Given the description of an element on the screen output the (x, y) to click on. 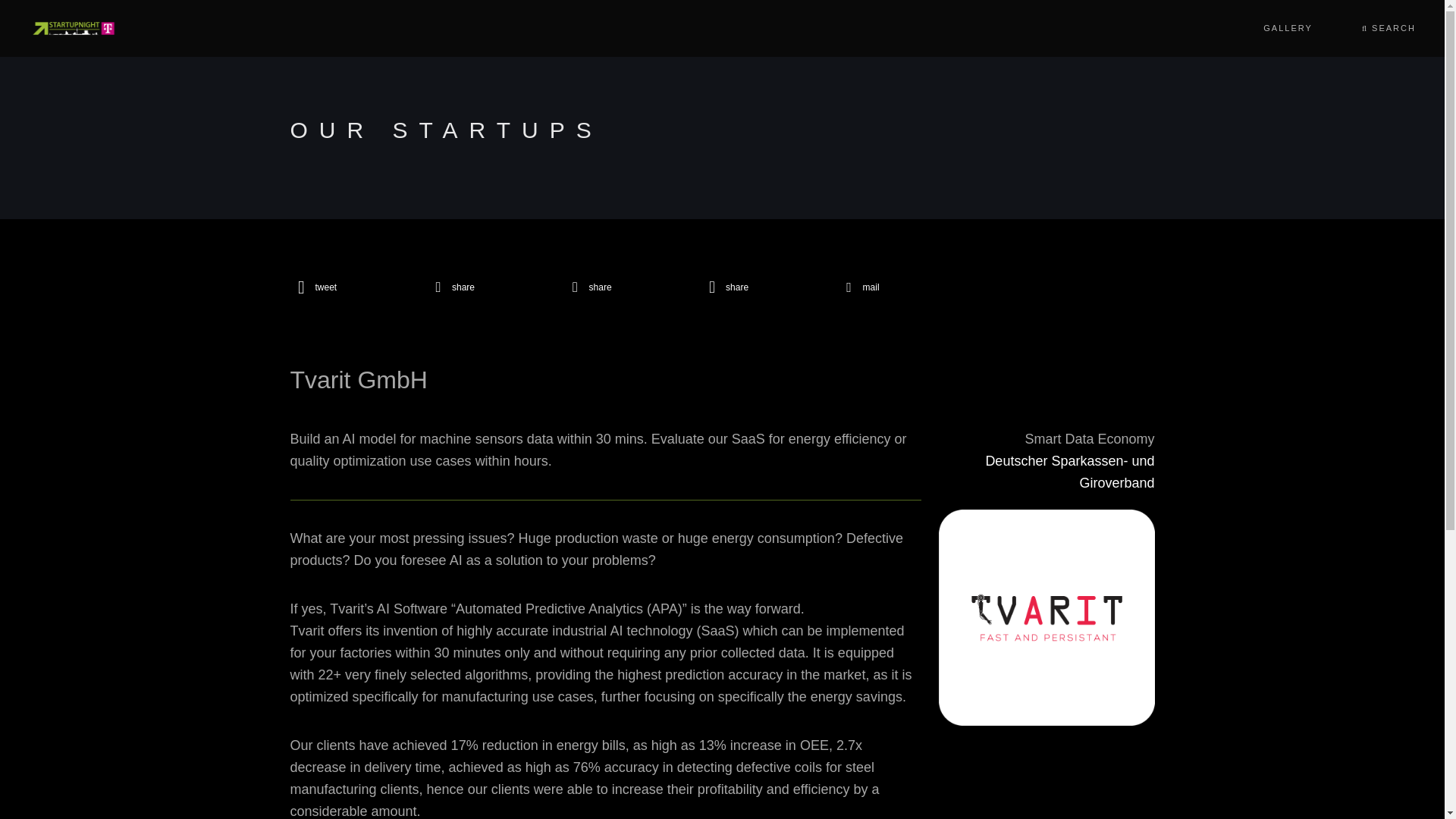
Share on Whatsapp (761, 287)
Share on Twitter (349, 287)
share (487, 287)
Startupnight (73, 28)
Share on Facebook (487, 287)
Deutscher Sparkassen- und Giroverband (1046, 481)
SEARCH (1388, 28)
tweet (349, 287)
mail (898, 287)
share (761, 287)
